Given the description of an element on the screen output the (x, y) to click on. 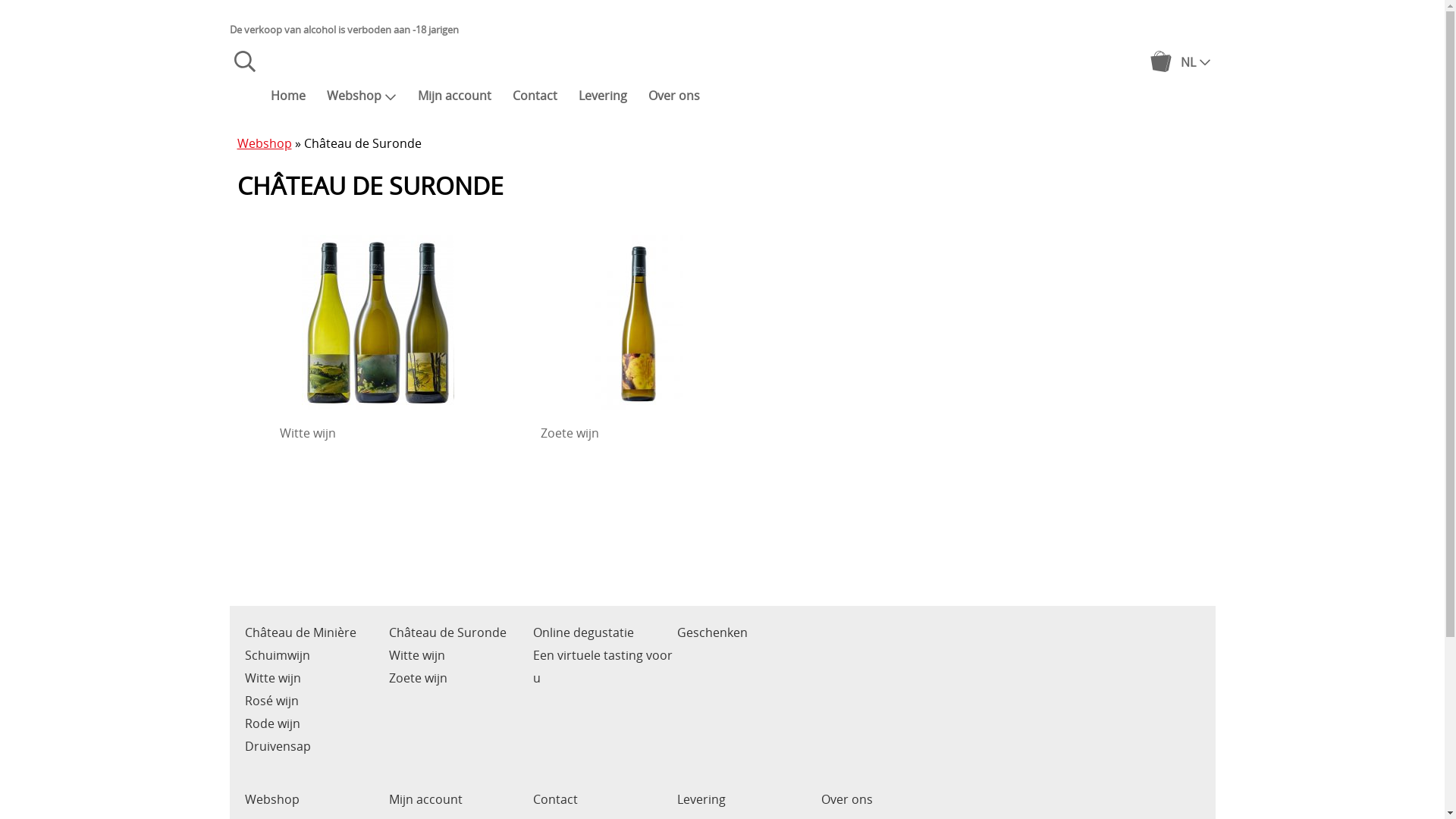
Geschenken Element type: text (711, 632)
Over ons Element type: text (673, 95)
Schuimwijn Element type: text (276, 654)
Contact Element type: text (554, 798)
Levering Element type: text (602, 95)
Online degustatie Element type: text (582, 632)
Witte wijn Element type: text (377, 334)
Rode wijn Element type: text (271, 723)
Witte wijn Element type: text (272, 677)
Webshop Element type: text (263, 142)
Home Element type: text (287, 95)
Zoeken Element type: text (243, 67)
Contact Element type: text (534, 95)
Webshop Element type: text (360, 95)
Levering Element type: text (700, 798)
Een virtuele tasting voor u Element type: text (601, 666)
Webshop Element type: text (271, 798)
Mijn account Element type: text (453, 95)
Zoete wijn Element type: text (417, 677)
Witte wijn Element type: text (416, 654)
Mijn account Element type: text (424, 798)
Over ons Element type: text (846, 798)
Druivensap Element type: text (277, 745)
NL Element type: text (1194, 60)
Zoete wijn Element type: text (638, 334)
